Given the description of an element on the screen output the (x, y) to click on. 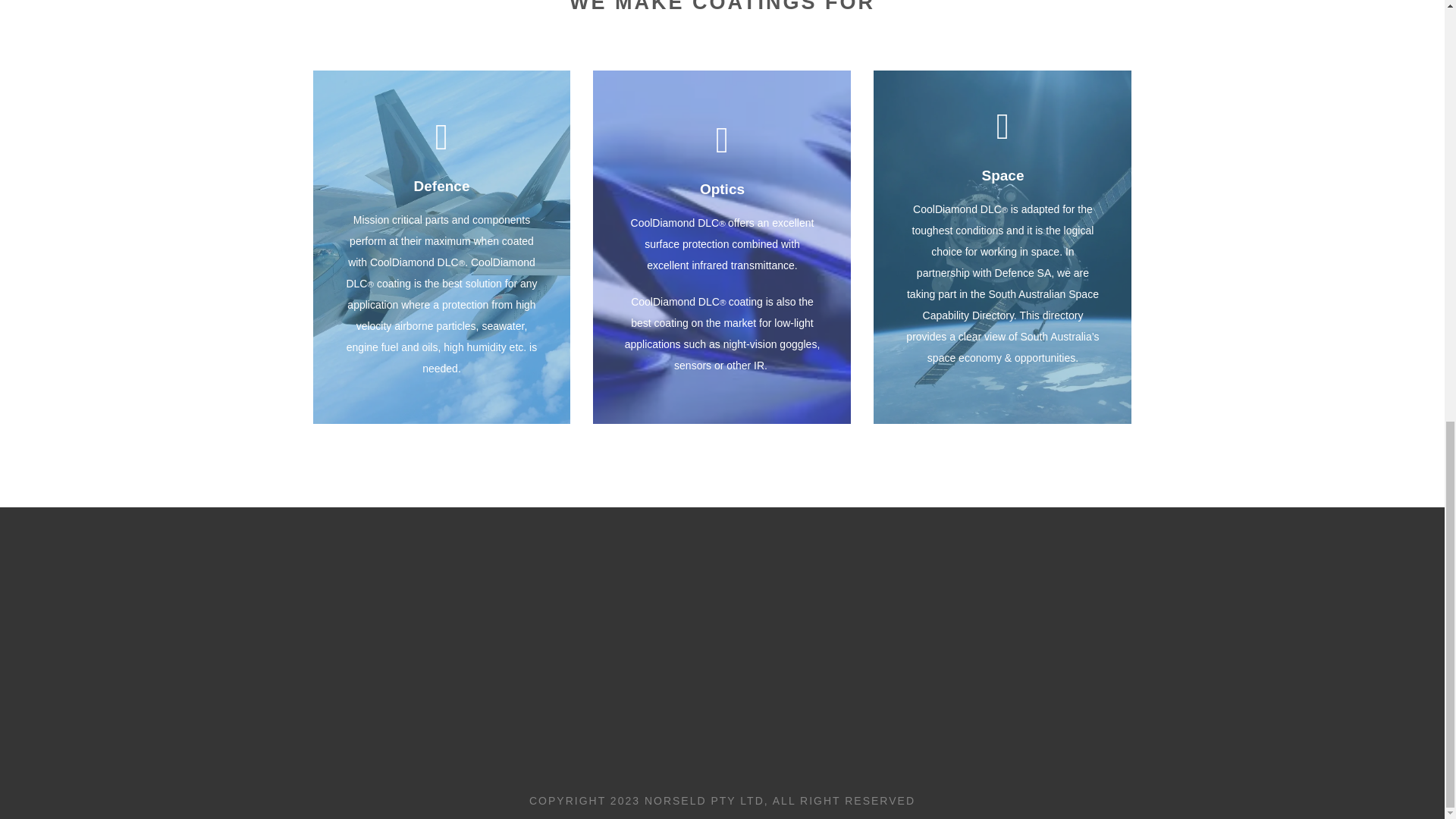
WE MAKE COATINGS FOR (722, 6)
